Given the description of an element on the screen output the (x, y) to click on. 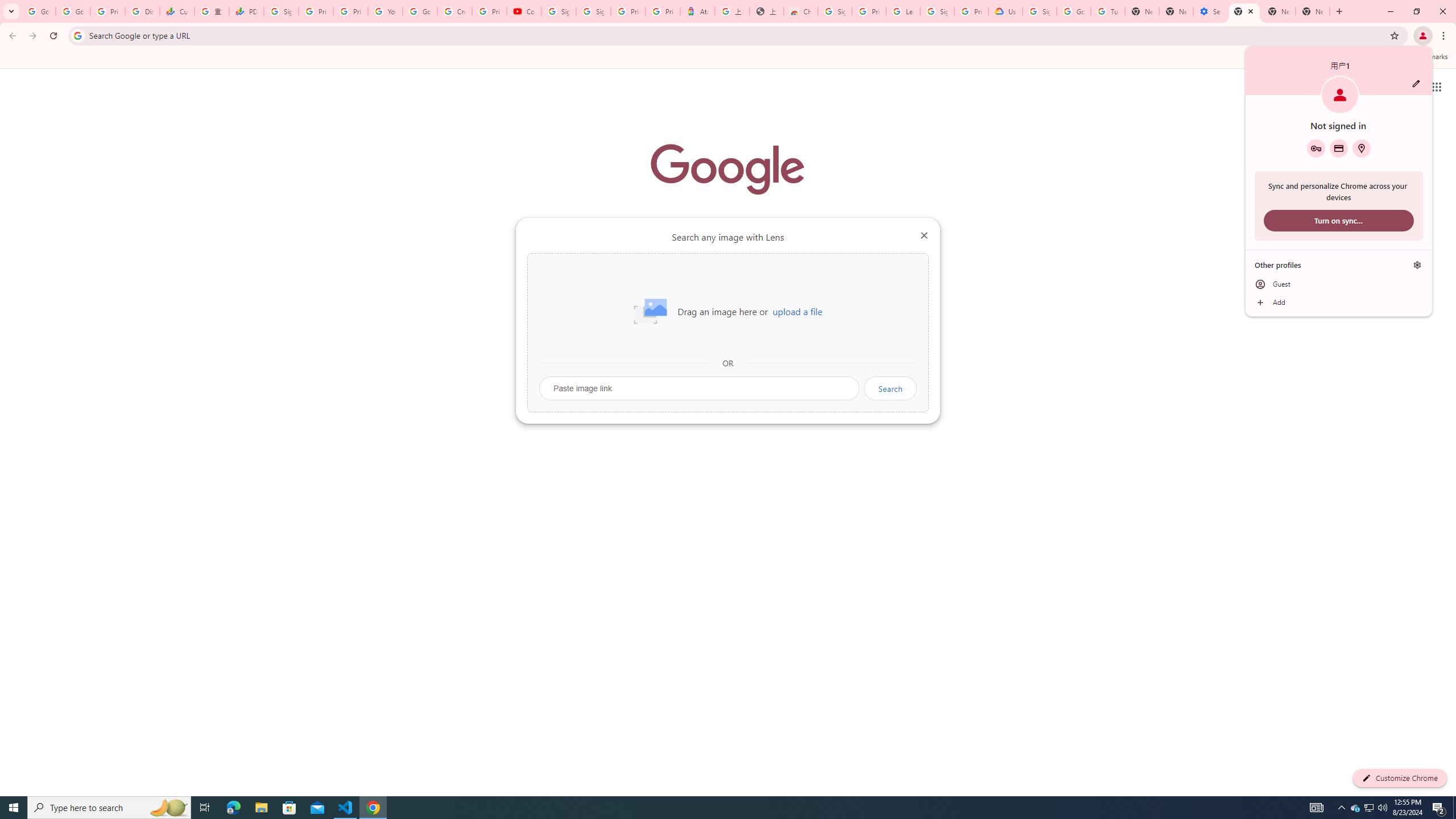
Manage profiles (1417, 265)
Paste image link (699, 388)
Task View (204, 807)
Google Account Help (419, 11)
Customize Chrome (1399, 778)
Sign in - Google Accounts (592, 11)
Sign in - Google Accounts (1039, 11)
User Promoted Notification Area (1368, 807)
Guest (1338, 284)
